Given the description of an element on the screen output the (x, y) to click on. 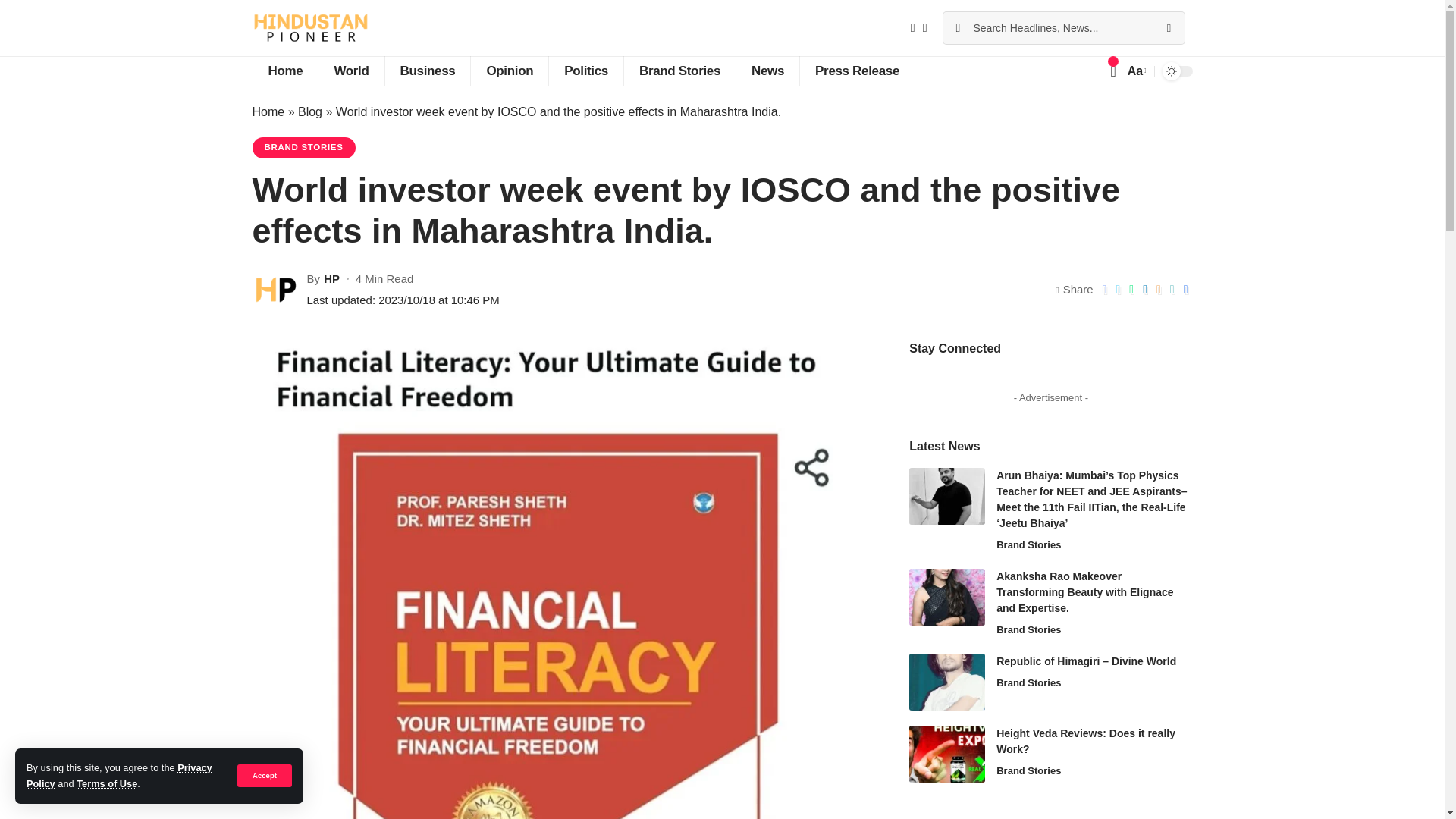
Business (427, 71)
Home (284, 71)
Aa (1135, 70)
Search (1168, 28)
Opinion (509, 71)
Accept (264, 775)
Privacy Policy (119, 775)
Terms of Use (106, 783)
World (350, 71)
